Given the description of an element on the screen output the (x, y) to click on. 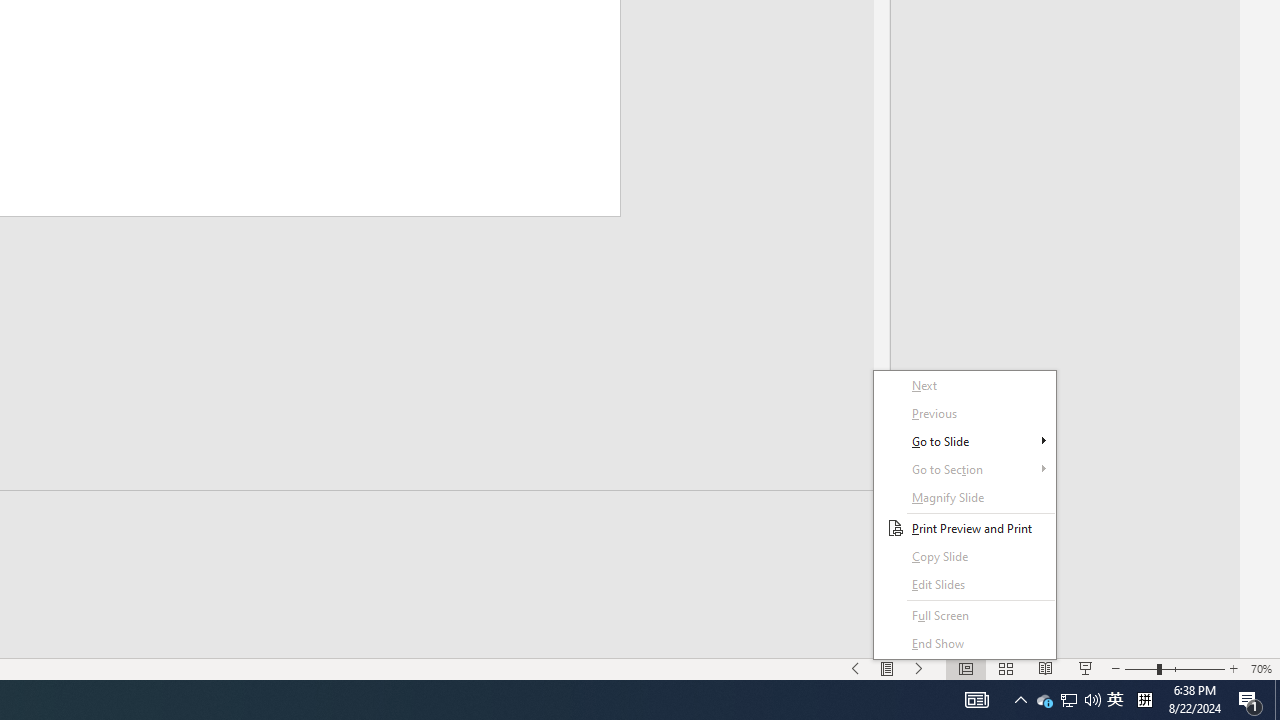
Notification Chevron (1020, 699)
Class: NetUITWMenuContainer (964, 515)
End Show (964, 644)
Show desktop (1277, 699)
Next (964, 386)
Copy Slide (964, 556)
Zoom 70% (1261, 668)
Full Screen (964, 615)
Edit Slides (1044, 699)
